Given the description of an element on the screen output the (x, y) to click on. 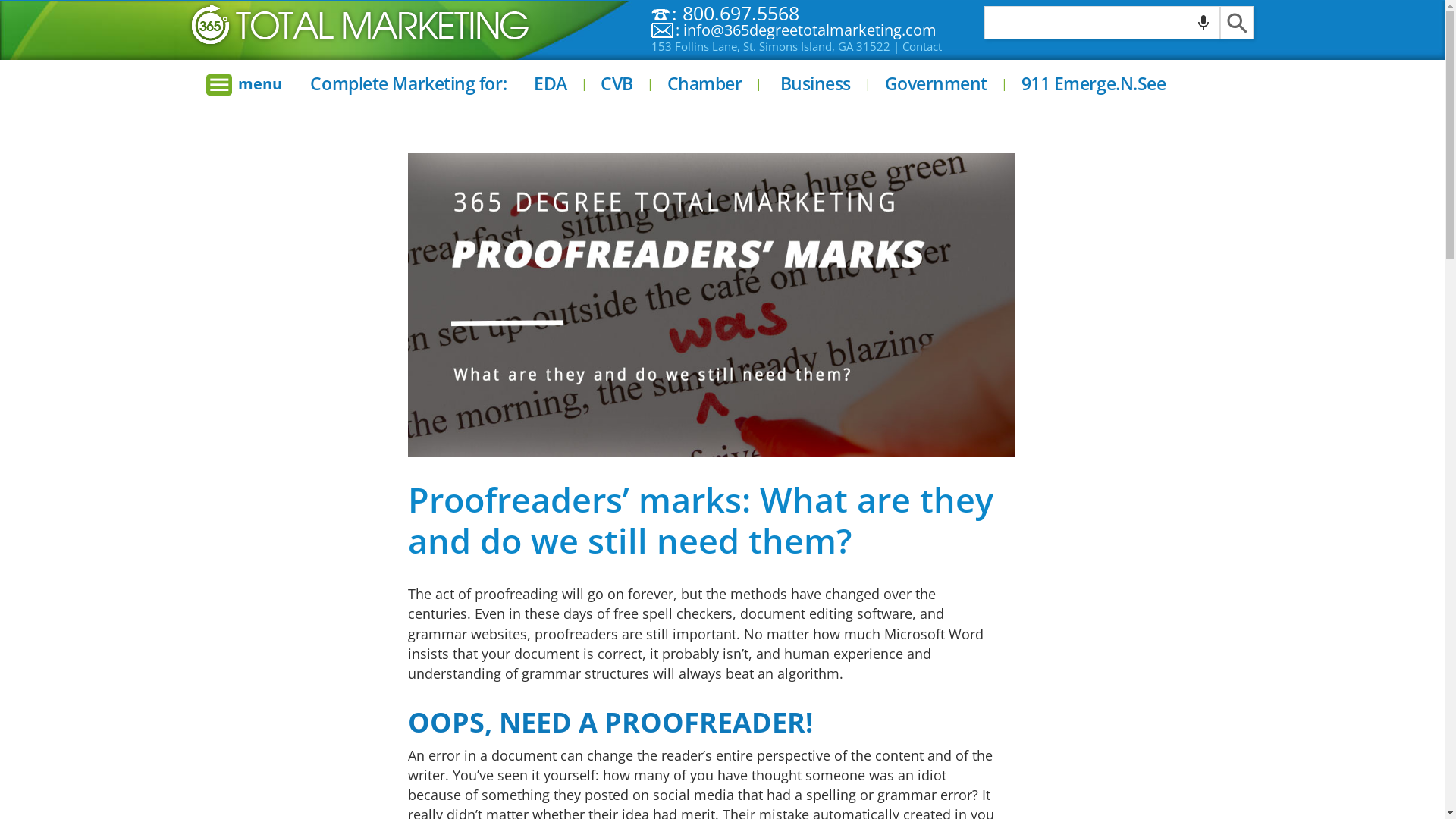
911 Emerge.N.See Element type: text (1093, 85)
EDA Element type: text (550, 85)
info@365degreetotalmarketing.com Element type: text (809, 29)
Business Element type: text (815, 85)
  Element type: text (1235, 22)
Chamber Element type: text (704, 85)
365 Degree Total Marketing Element type: text (359, 24)
menu Element type: text (243, 84)
Government Element type: text (936, 85)
800.697.5568 Element type: text (740, 12)
CVB Element type: text (616, 85)
Contact Element type: text (921, 45)
